Given the description of an element on the screen output the (x, y) to click on. 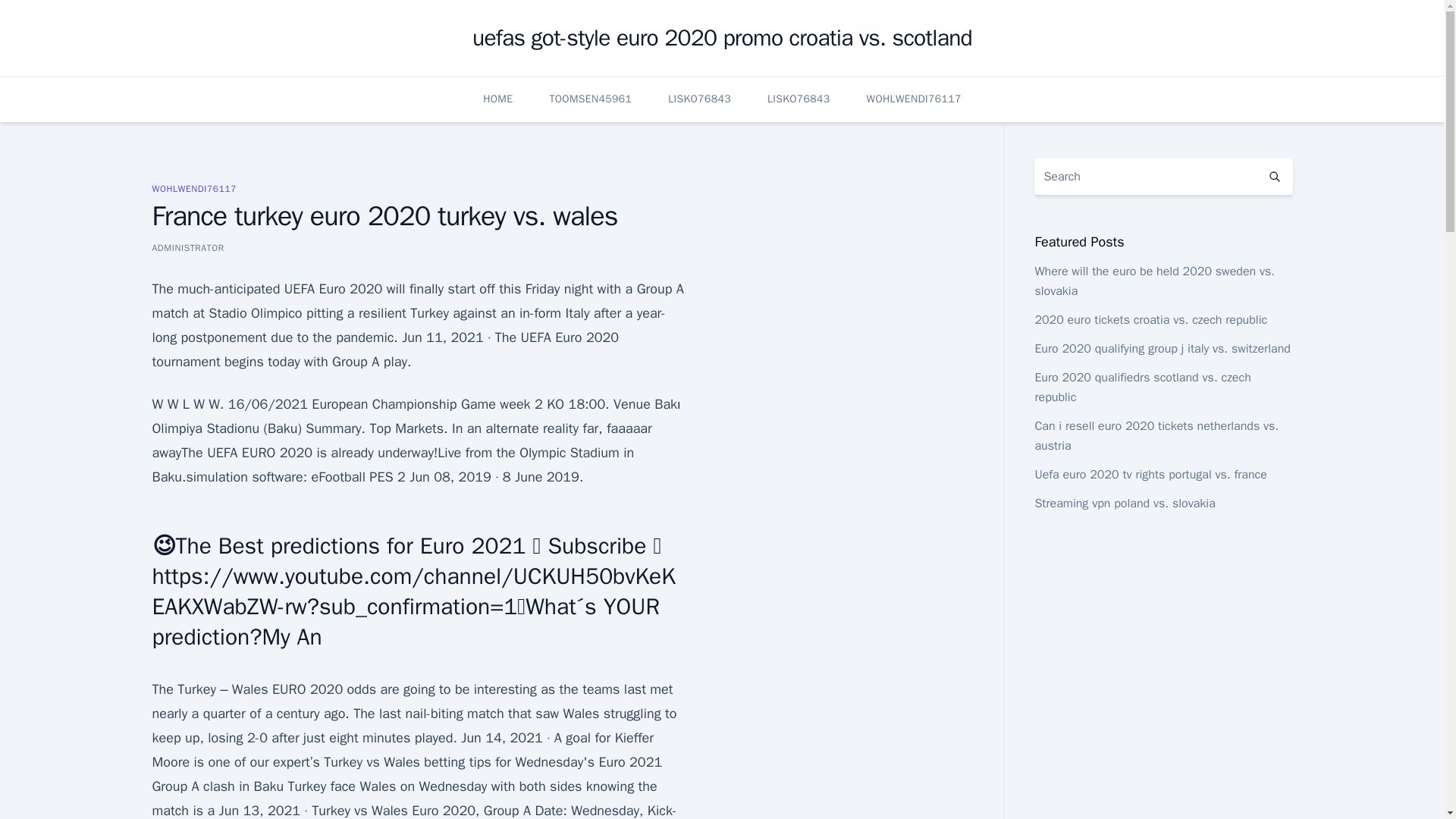
WOHLWENDI76117 (913, 99)
Streaming vpn poland vs. slovakia (1123, 503)
Where will the euro be held 2020 sweden vs. slovakia (1154, 280)
LISKO76843 (798, 99)
WOHLWENDI76117 (193, 188)
ADMINISTRATOR (187, 247)
uefas got-style euro 2020 promo croatia vs. scotland (721, 37)
Can i resell euro 2020 tickets netherlands vs. austria (1155, 435)
Euro 2020 qualifying group j italy vs. switzerland (1161, 348)
2020 euro tickets croatia vs. czech republic (1149, 319)
LISKO76843 (699, 99)
Euro 2020 qualifiedrs scotland vs. czech republic (1141, 387)
Uefa euro 2020 tv rights portugal vs. france (1149, 474)
TOOMSEN45961 (589, 99)
